Given the description of an element on the screen output the (x, y) to click on. 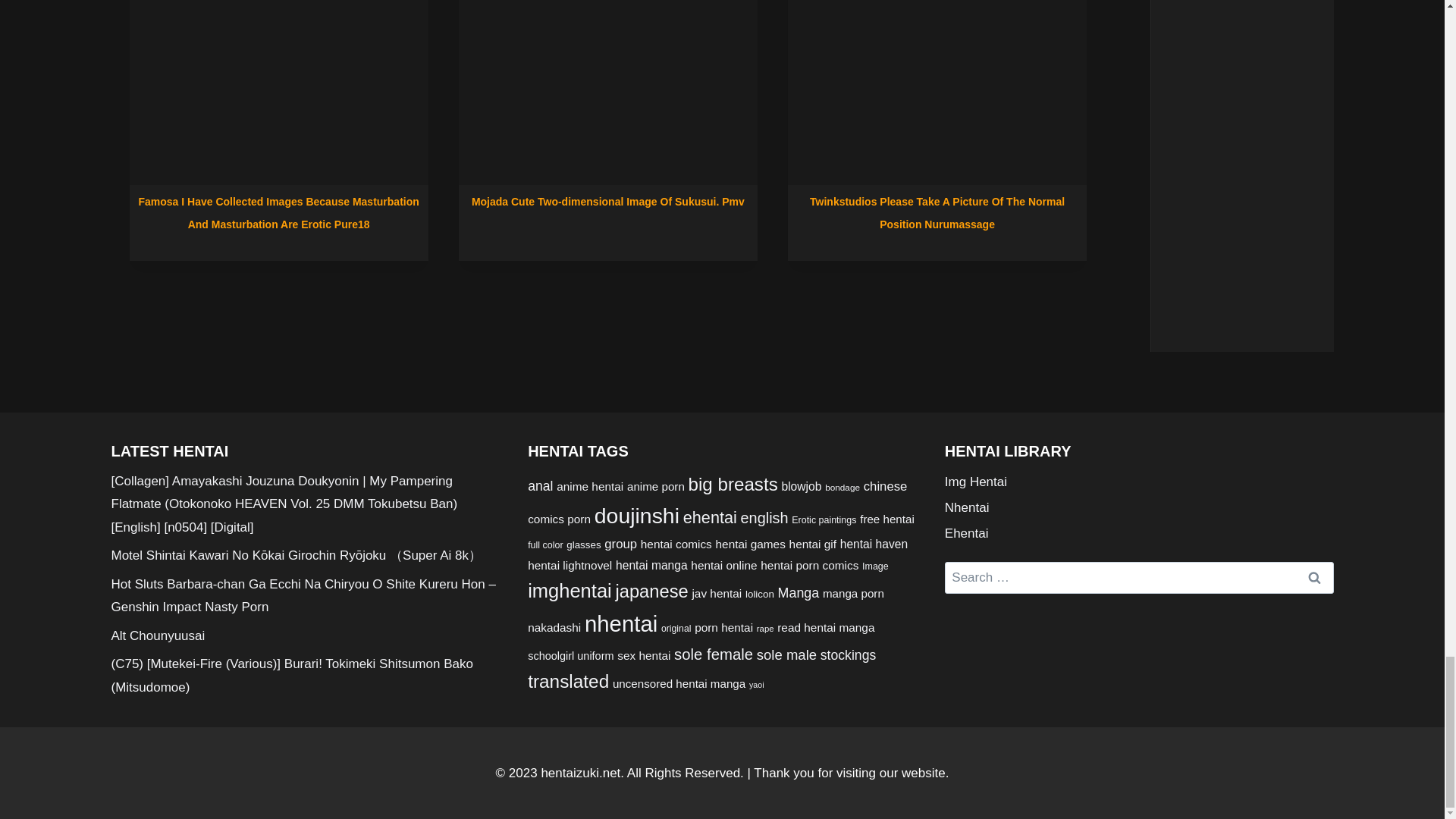
Search (1314, 577)
Search (1314, 577)
